Given the description of an element on the screen output the (x, y) to click on. 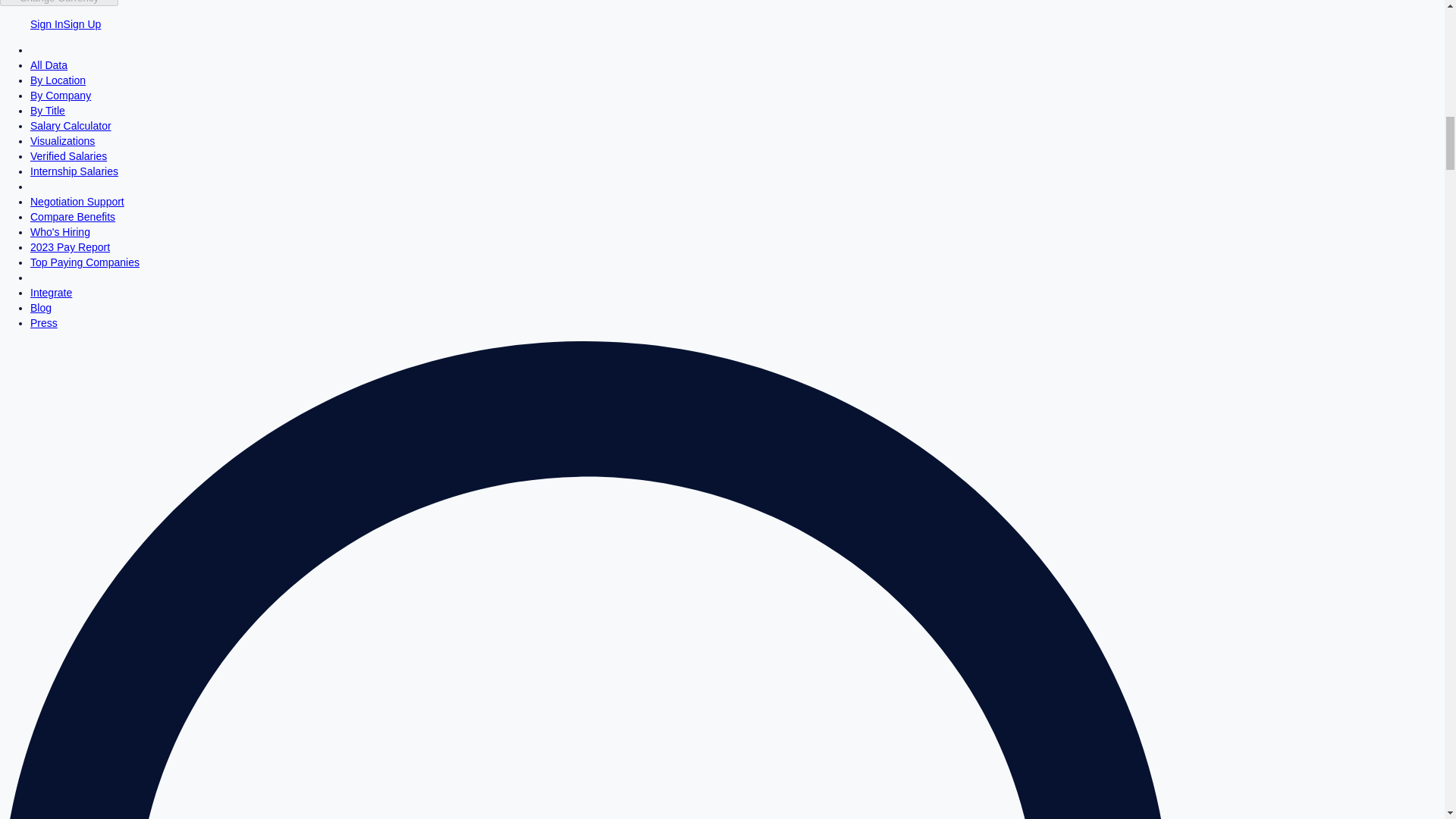
2023 Pay Report (70, 246)
Verified Salaries (68, 155)
Negotiation Support (76, 201)
Sign Up (82, 24)
Visualizations (62, 141)
All Data (48, 64)
By Company (60, 95)
By Title (47, 110)
Sign In (47, 24)
Compare Benefits (72, 216)
Top Paying Companies (84, 262)
Who's Hiring (60, 232)
Integrate (50, 292)
Salary Calculator (71, 125)
By Location (57, 80)
